Given the description of an element on the screen output the (x, y) to click on. 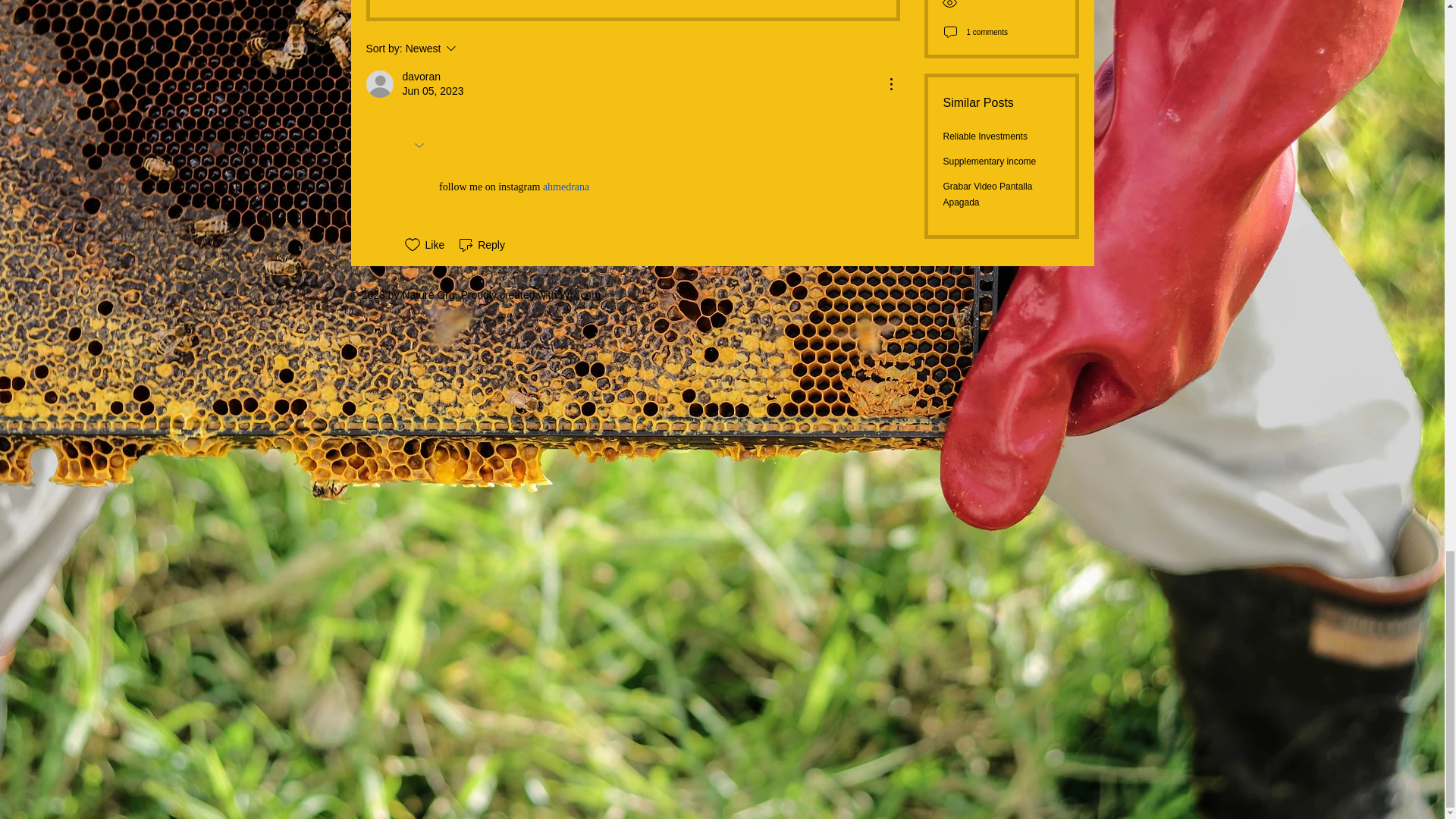
Reply (481, 244)
davoran (421, 76)
Write a comment... (471, 48)
ahmedrana (632, 8)
